Given the description of an element on the screen output the (x, y) to click on. 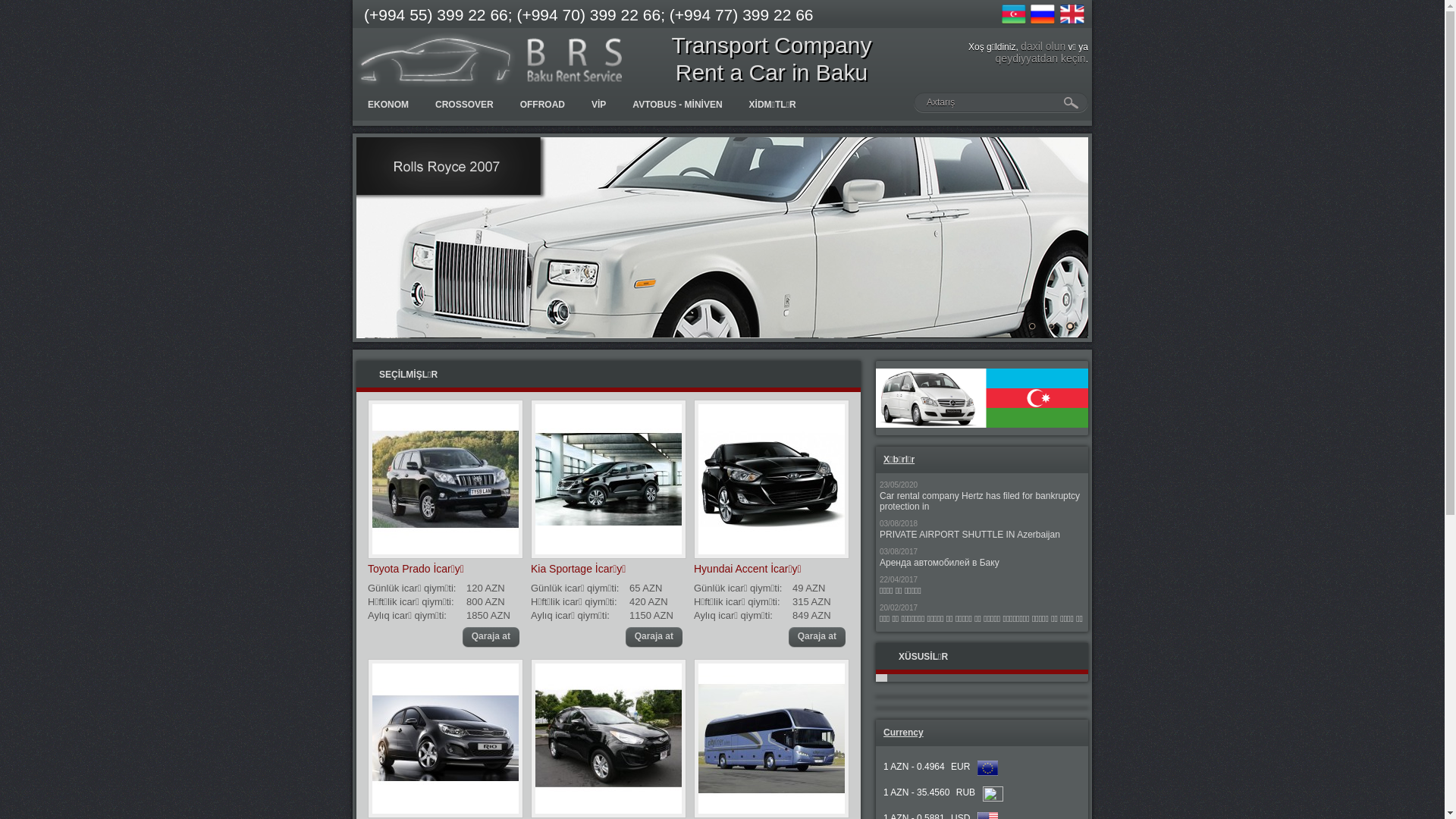
1 Element type: text (1031, 325)
Qaraja at Element type: text (653, 636)
3 Element type: text (1069, 325)
English Element type: hover (1072, 14)
EKONOM Element type: text (388, 104)
daxil olun Element type: text (1042, 46)
PRIVATE AIRPORT SHUTTLE IN Azerbaijan Element type: text (969, 534)
2 Element type: text (1050, 325)
Qaraja at Element type: text (816, 636)
Russian Element type: hover (1042, 14)
Azerbaijani Element type: hover (1013, 14)
OFFROAD Element type: text (542, 104)
CROSSOVER Element type: text (464, 104)
Currency Element type: text (903, 732)
Qaraja at Element type: text (490, 636)
Baku Rent Service Element type: hover (488, 59)
